Given the description of an element on the screen output the (x, y) to click on. 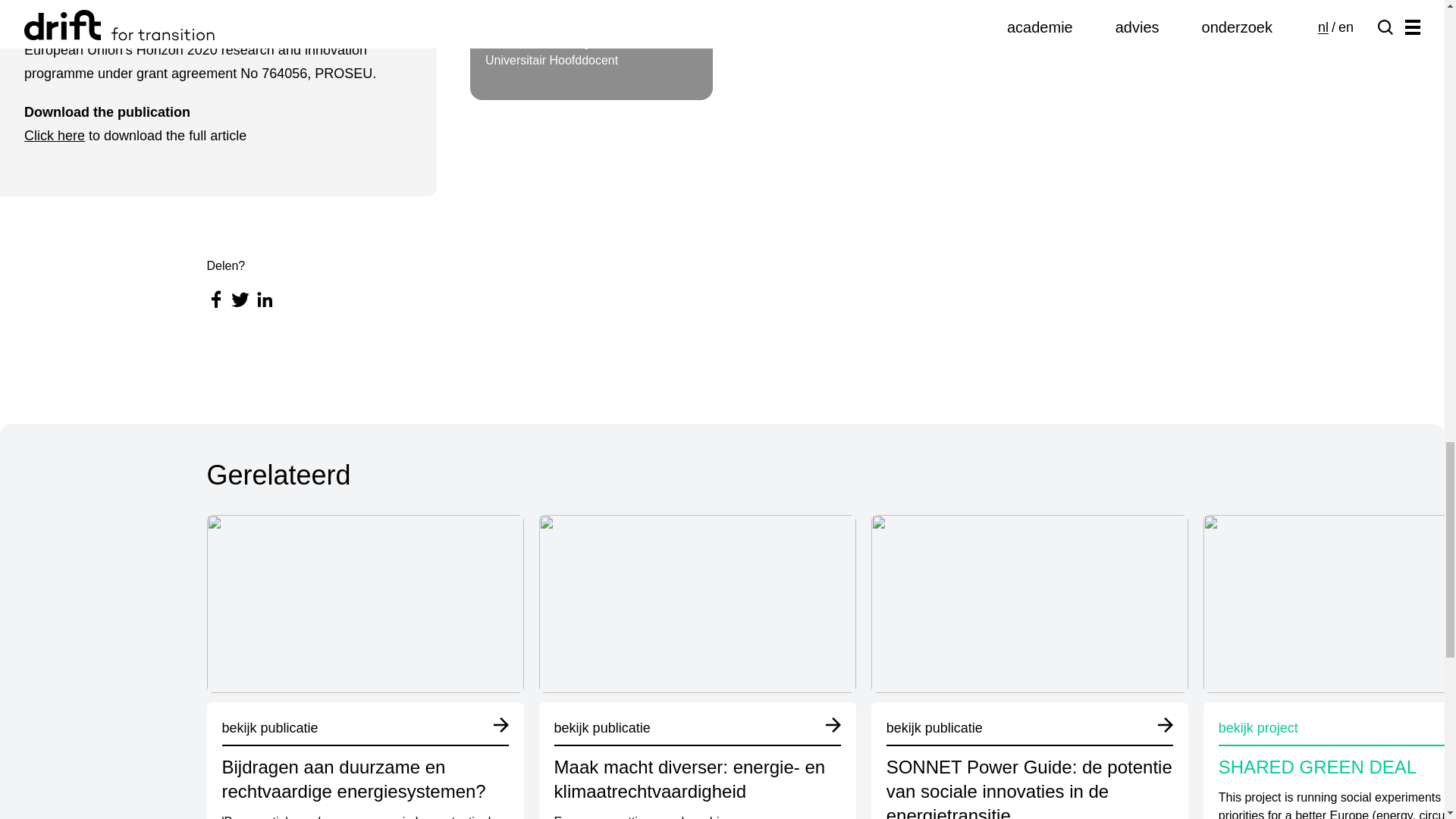
Facebook (215, 299)
LinkedIn (263, 299)
Twitter (591, 49)
Click here (239, 299)
